Given the description of an element on the screen output the (x, y) to click on. 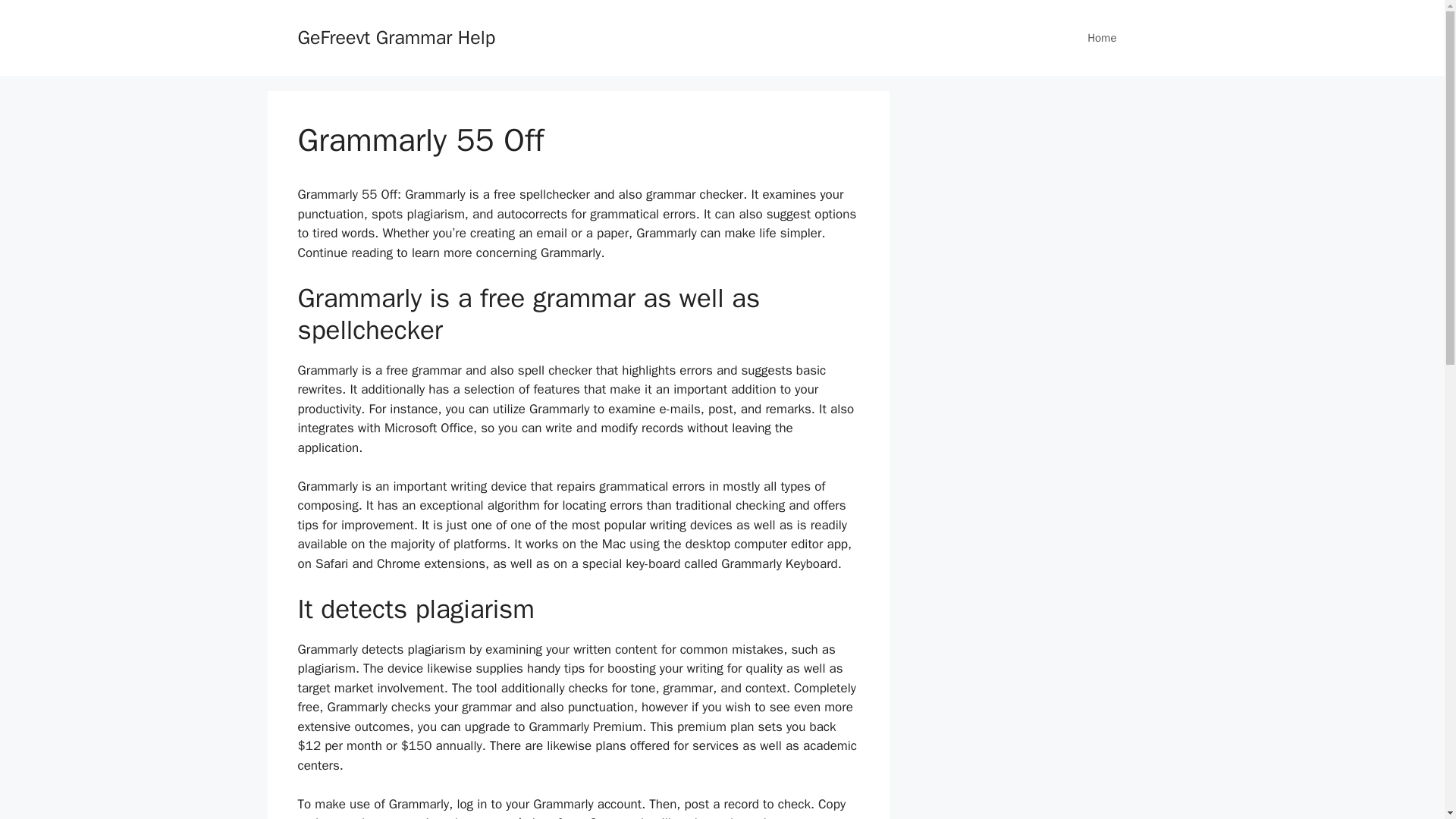
Home (1101, 37)
GeFreevt Grammar Help (396, 37)
